Given the description of an element on the screen output the (x, y) to click on. 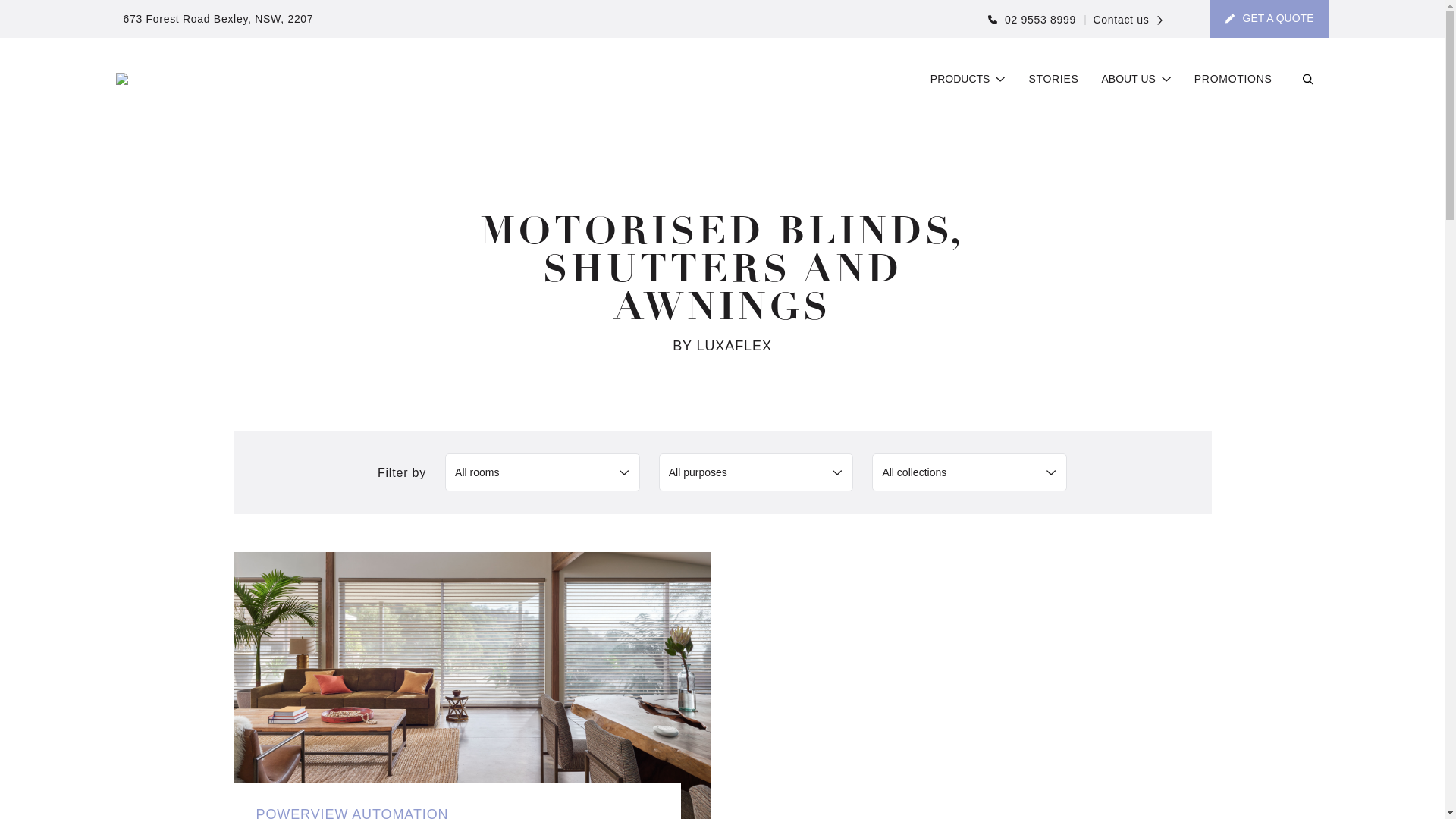
PROMOTIONS Element type: text (1233, 79)
GET A QUOTE Element type: text (1269, 18)
PRODUCTS Element type: text (968, 79)
STORIES Element type: text (1053, 79)
02 9553 8999 Element type: text (1032, 20)
Contact us Element type: text (1123, 20)
ABOUT US Element type: text (1136, 79)
